Given the description of an element on the screen output the (x, y) to click on. 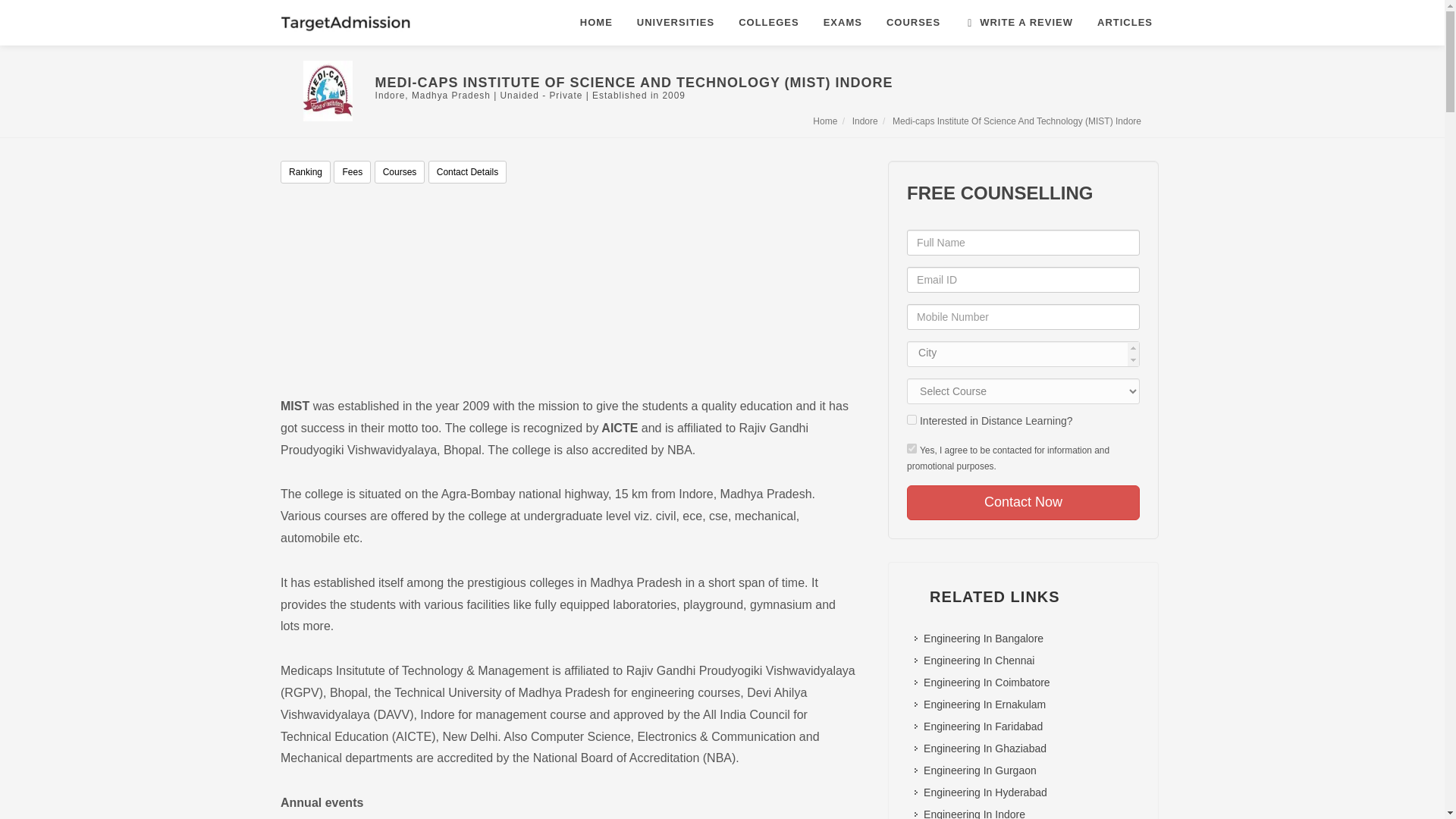
Indore (865, 120)
COURSES (913, 22)
ARTICLES (1124, 22)
Fees (352, 171)
on (912, 419)
EXAMS (842, 22)
HOME (596, 22)
COLLEGES (768, 22)
UNIVERSITIES (675, 22)
TargetAdmission.com (345, 22)
